Given the description of an element on the screen output the (x, y) to click on. 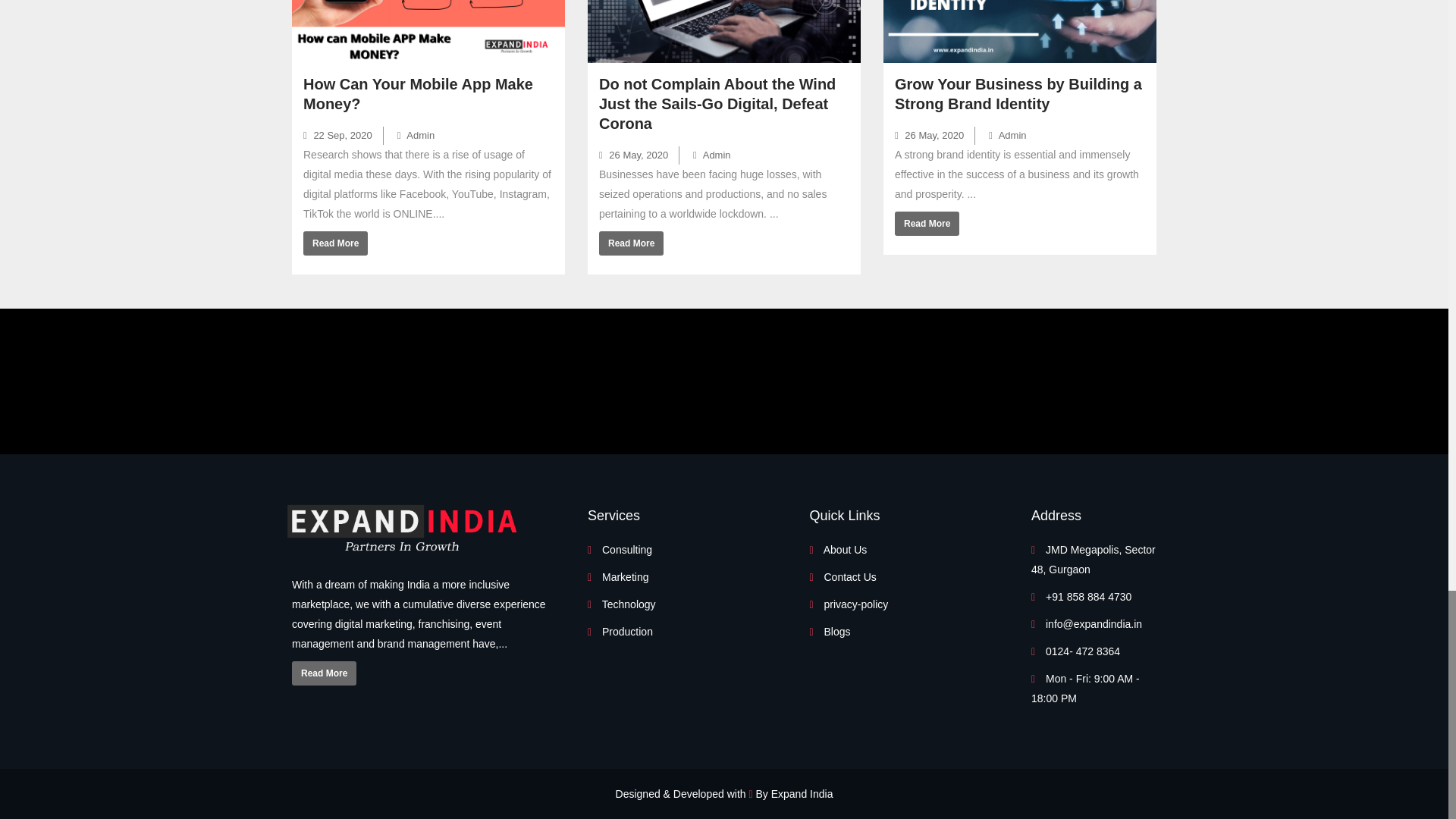
Read More (335, 242)
Admin (416, 134)
How Can Your Mobile App Make Money? (417, 94)
22 Sep, 2020 (337, 134)
